Given the description of an element on the screen output the (x, y) to click on. 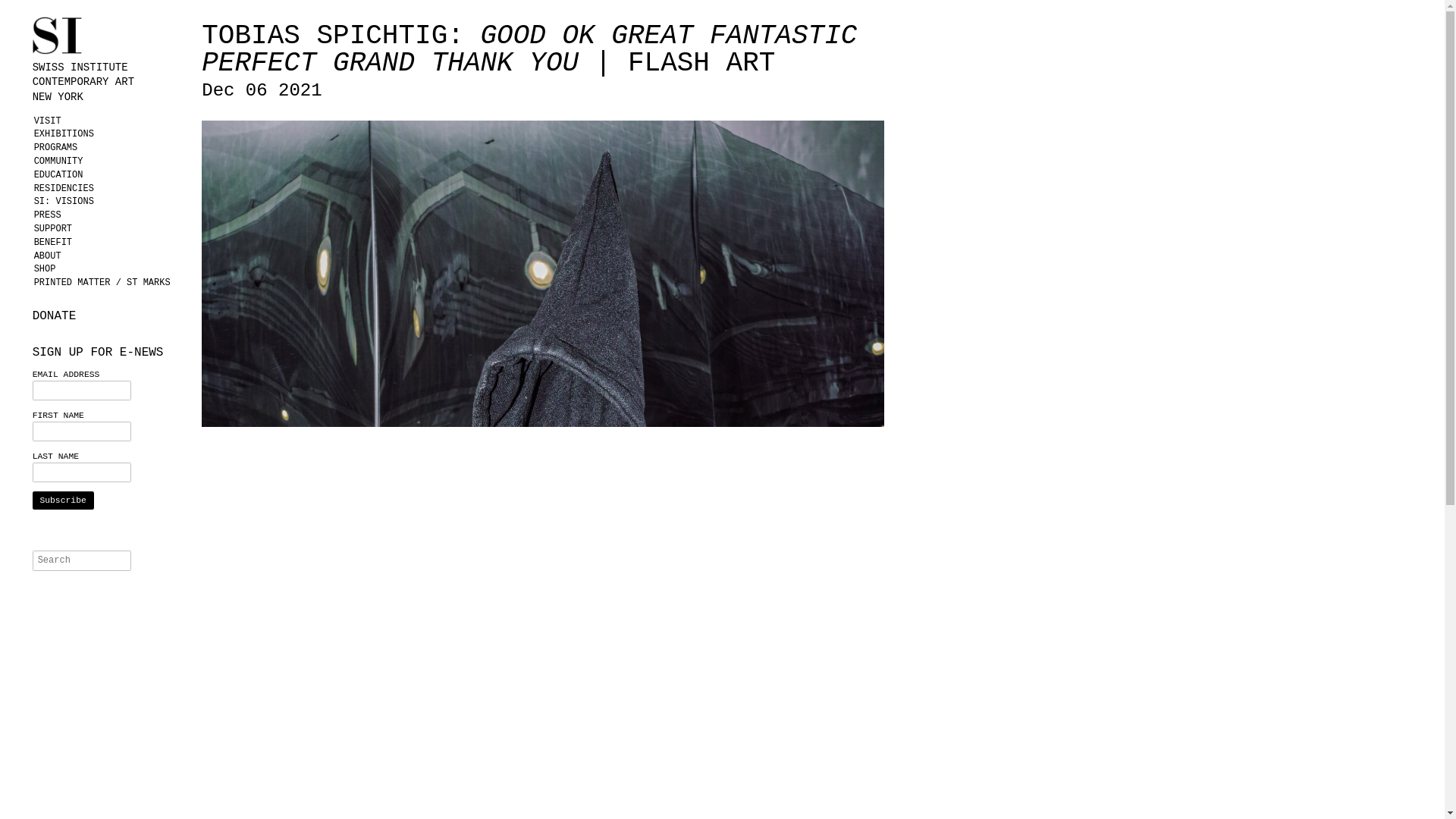
PROGRAMS (108, 147)
SUPPORT (108, 228)
SHOP (108, 268)
SI: VISIONS (108, 201)
DONATE (108, 315)
RESIDENCIES (108, 188)
EXHIBITIONS (108, 133)
PRESS (108, 215)
BENEFIT (108, 242)
VISIT (108, 121)
EDUCATION (108, 174)
Subscribe (63, 500)
ABOUT (108, 256)
Subscribe (108, 76)
